Given the description of an element on the screen output the (x, y) to click on. 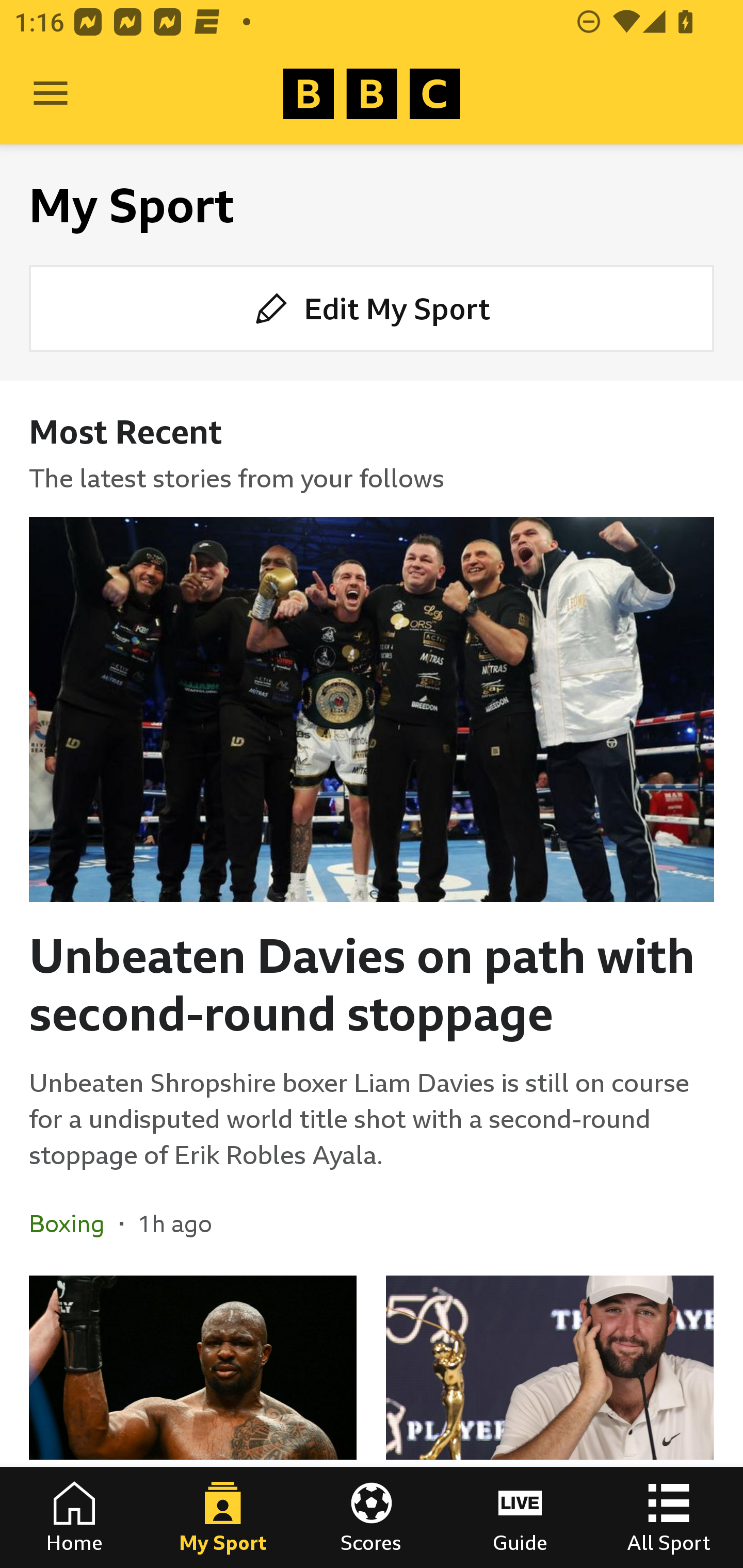
Open Menu (50, 93)
Edit My Sport (371, 307)
Home (74, 1517)
Scores (371, 1517)
Guide (519, 1517)
All Sport (668, 1517)
